Given the description of an element on the screen output the (x, y) to click on. 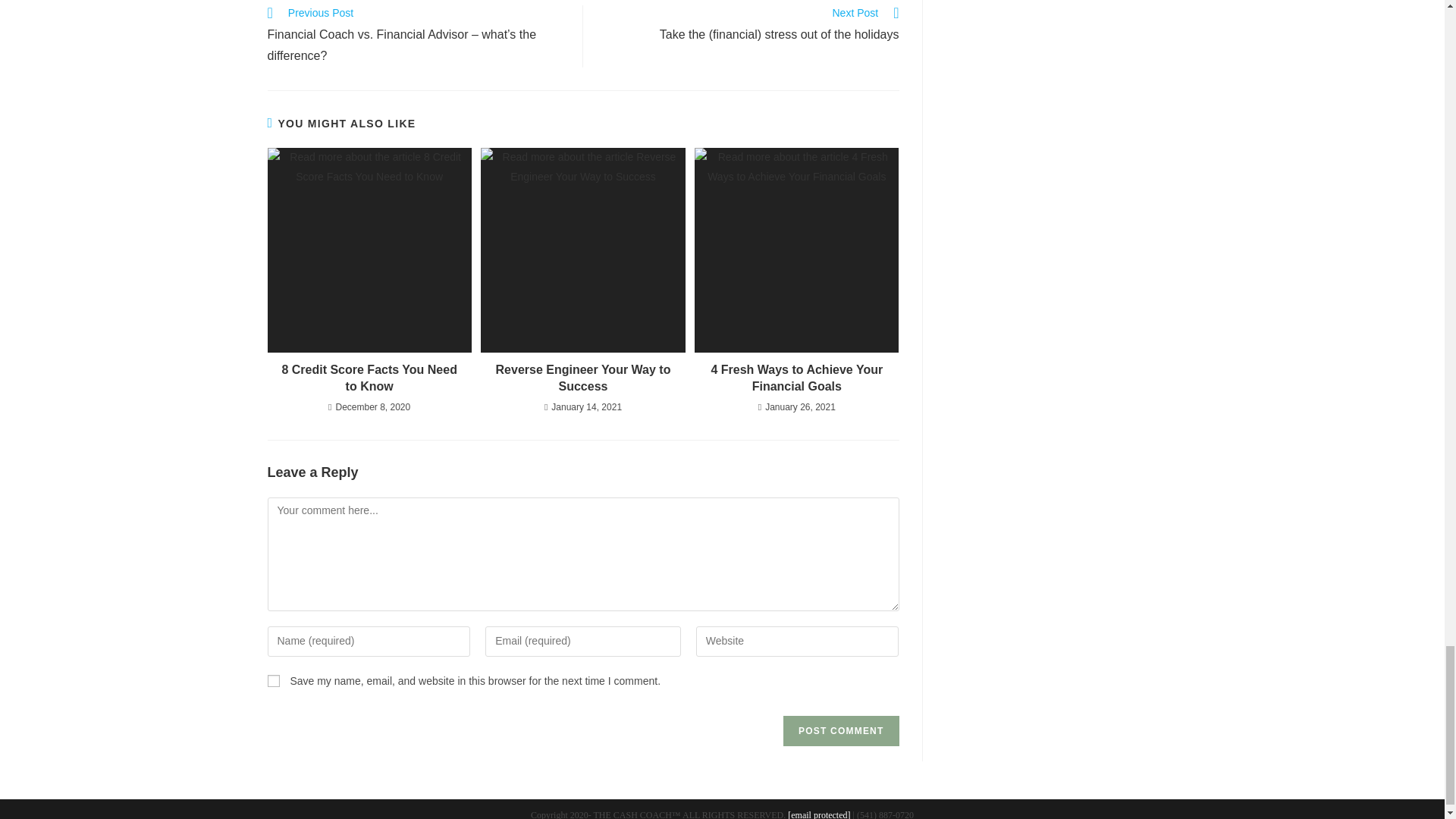
yes (272, 680)
Post Comment (840, 730)
